Given the description of an element on the screen output the (x, y) to click on. 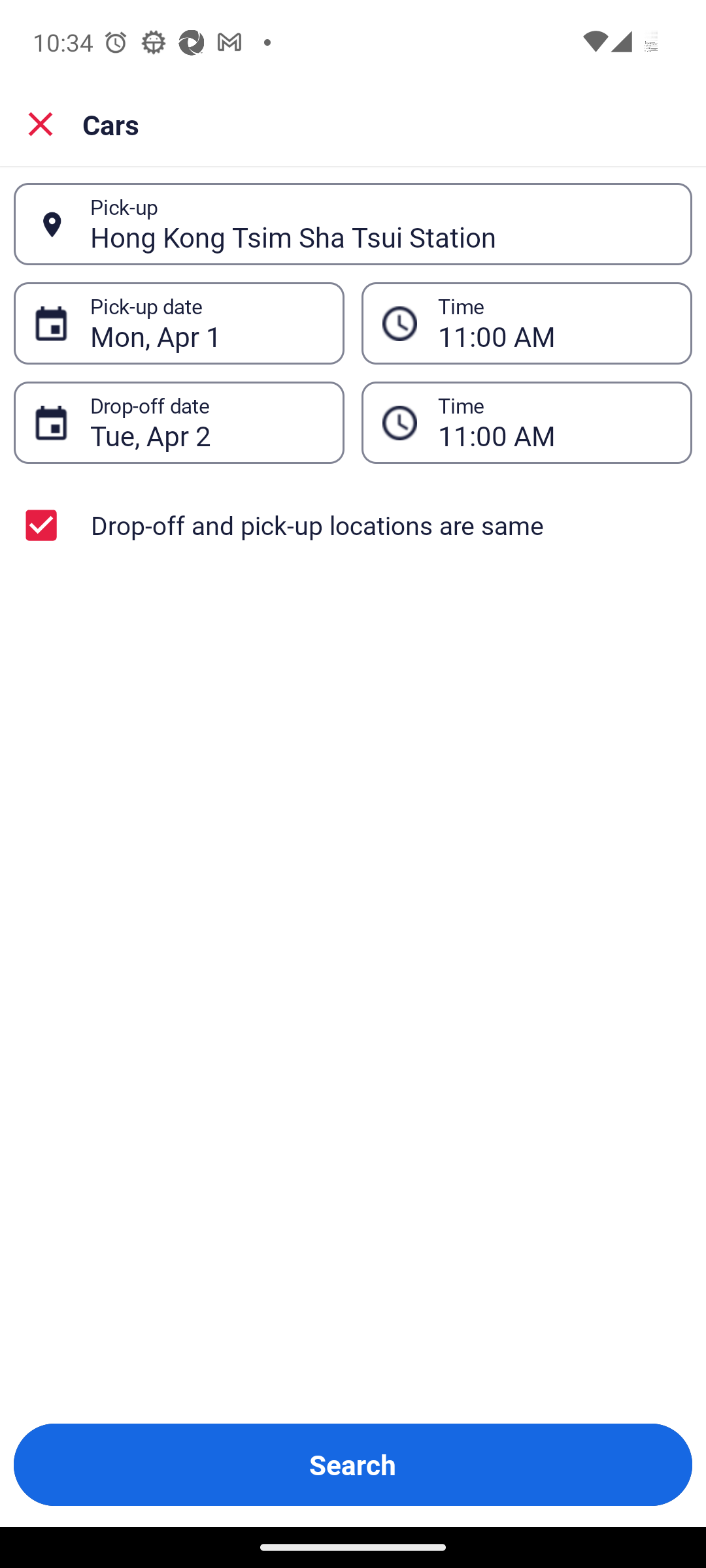
Close search screen (41, 124)
Hong Kong Tsim Sha Tsui Station (380, 223)
Mon, Apr 1 (206, 322)
11:00 AM (554, 322)
Tue, Apr 2 (206, 423)
11:00 AM (554, 423)
Drop-off and pick-up locations are same (352, 525)
Search Button Search (352, 1464)
